Given the description of an element on the screen output the (x, y) to click on. 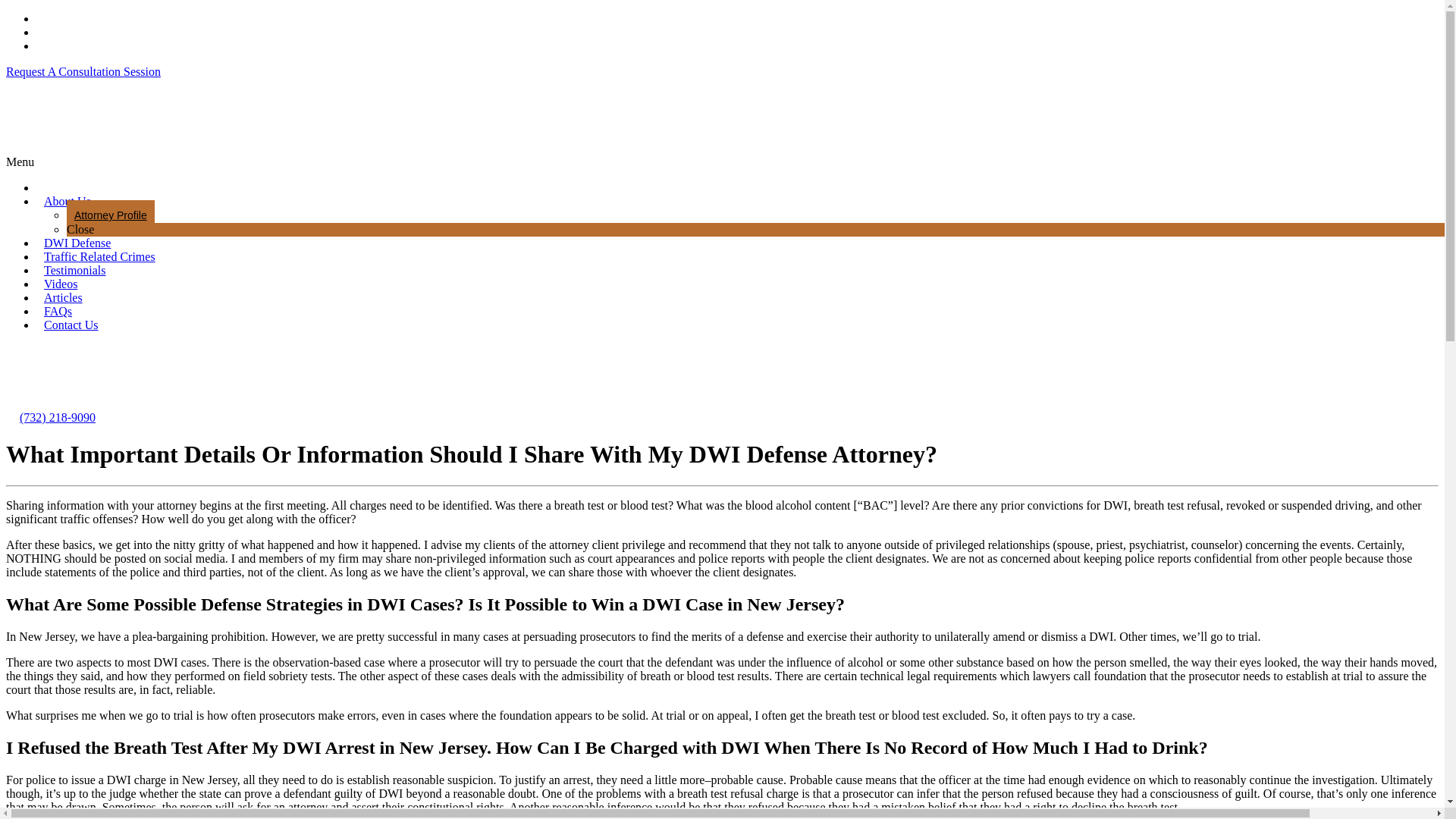
Menu (19, 161)
Traffic Related Crimes (99, 256)
DWI Defense (76, 243)
Articles (63, 297)
Contact Us (71, 325)
About Us (67, 201)
Attorney Profile (110, 214)
FAQs (58, 311)
Videos (60, 284)
Testimonials (74, 270)
